Given the description of an element on the screen output the (x, y) to click on. 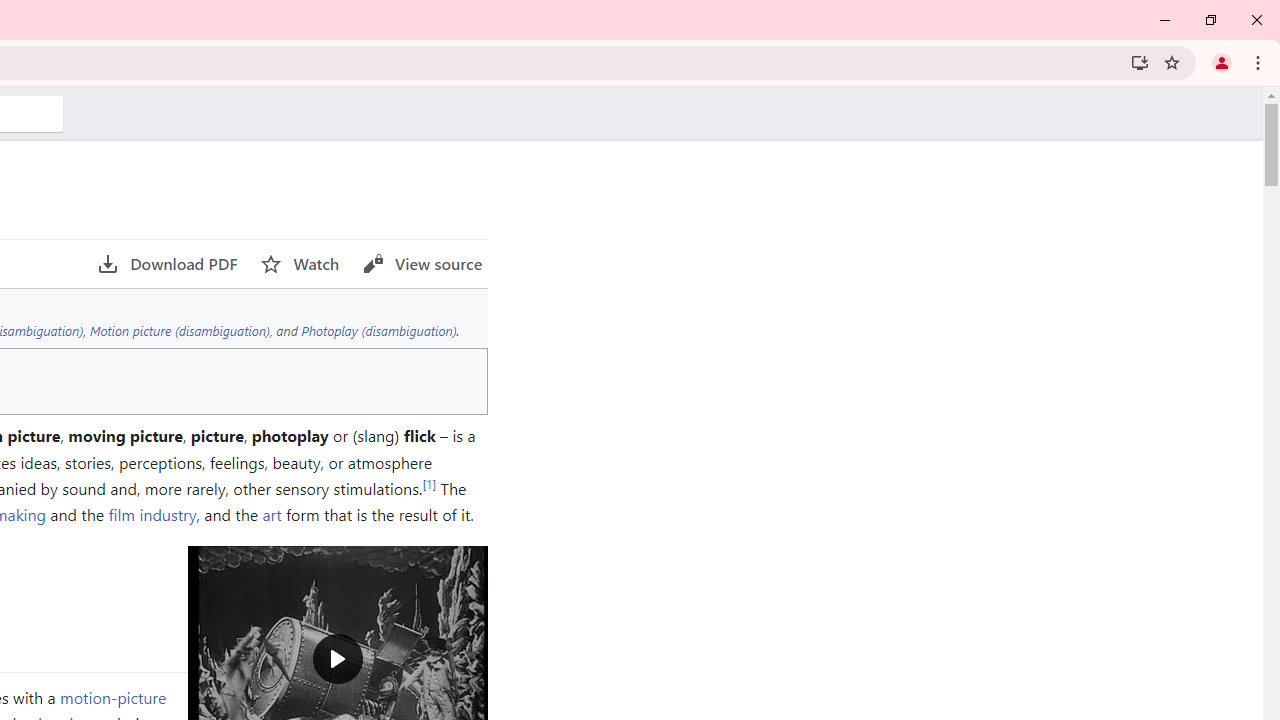
View source (422, 264)
AutomationID: page-actions-viewsource (422, 263)
